Given the description of an element on the screen output the (x, y) to click on. 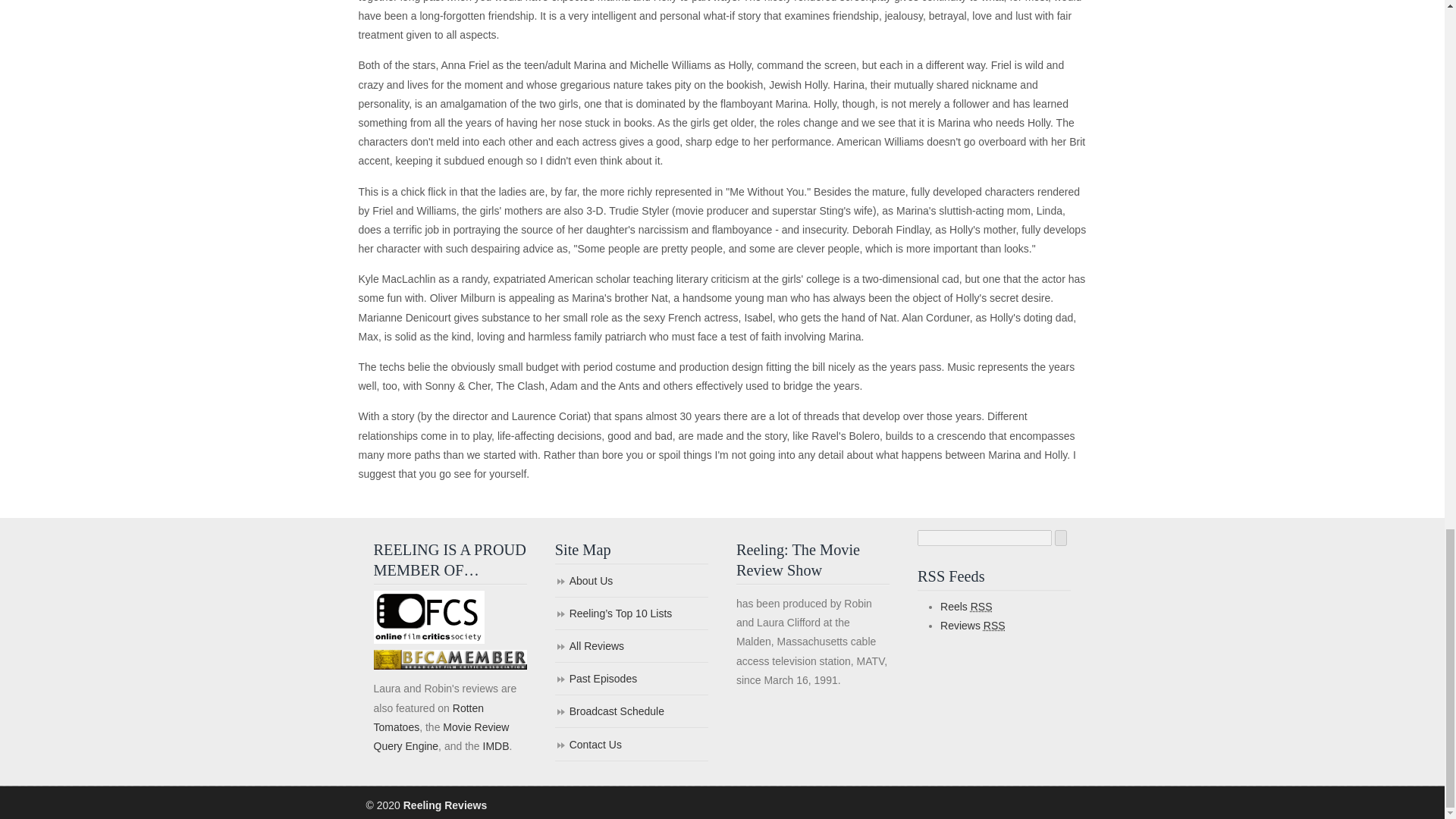
Broadcast Schedule (630, 712)
About Us (630, 581)
Movie Review Query Engine (440, 736)
Really Simple Syndication (995, 625)
IMDB (494, 746)
The latest Reviews in RSS (973, 625)
Reels RSS (965, 606)
Rotten Tomatoes (427, 717)
All Reviews (630, 646)
Really Simple Syndication (981, 606)
